Given the description of an element on the screen output the (x, y) to click on. 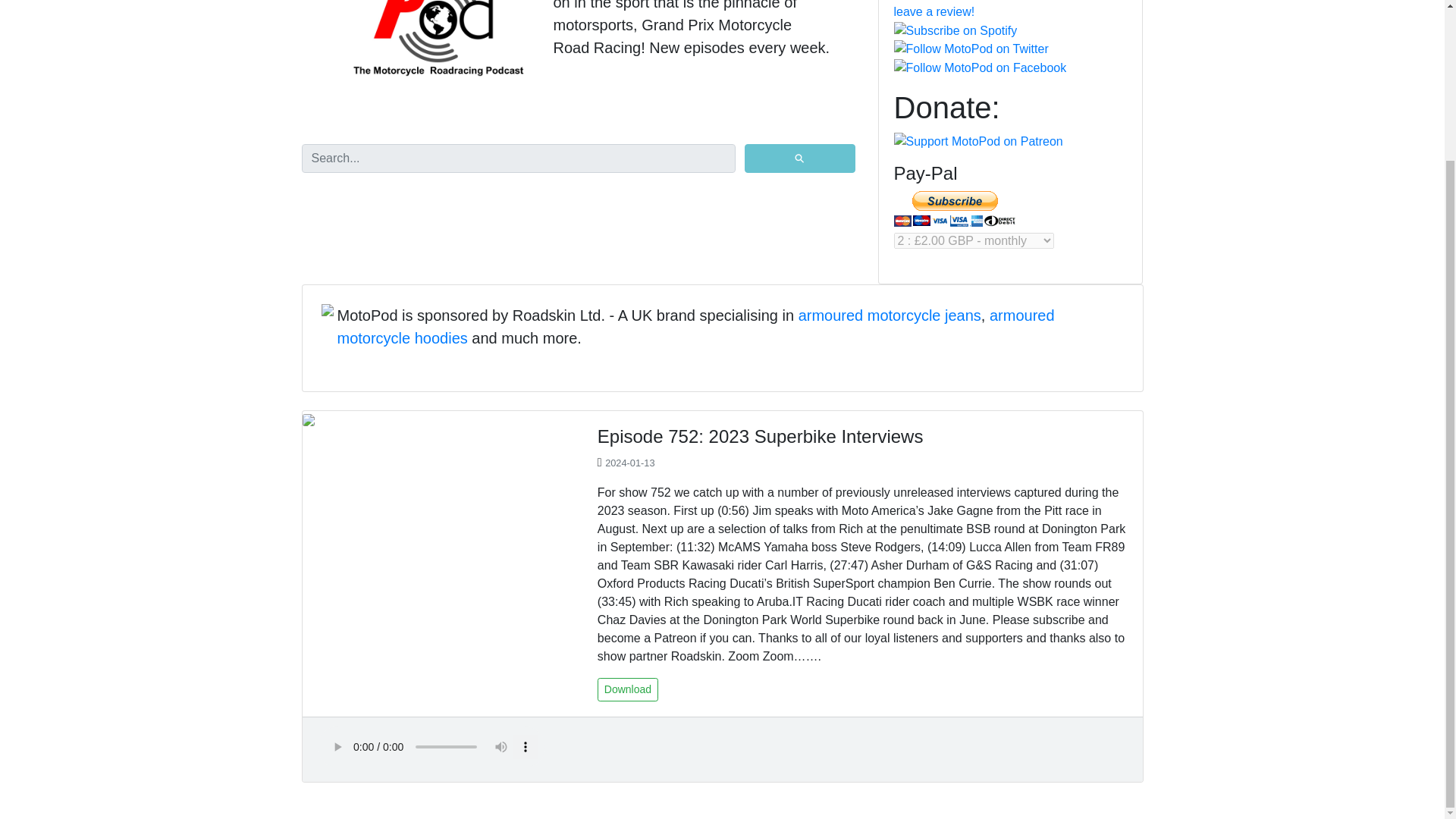
Follow MotoPod on Facebook (979, 67)
Follow MotoPod on Twitter (970, 49)
armoured motorcycle hoodies (695, 326)
Armoured Motorcycle Jeans (889, 315)
Subscribe on Google Podcasts and leave a review! (1009, 10)
armoured motorcycle jeans (889, 315)
Download (627, 689)
Armoured Motorcycle Hoodies (695, 326)
Support MotoPod on Patreon (977, 140)
Subscribe on Spotify (954, 31)
